Given the description of an element on the screen output the (x, y) to click on. 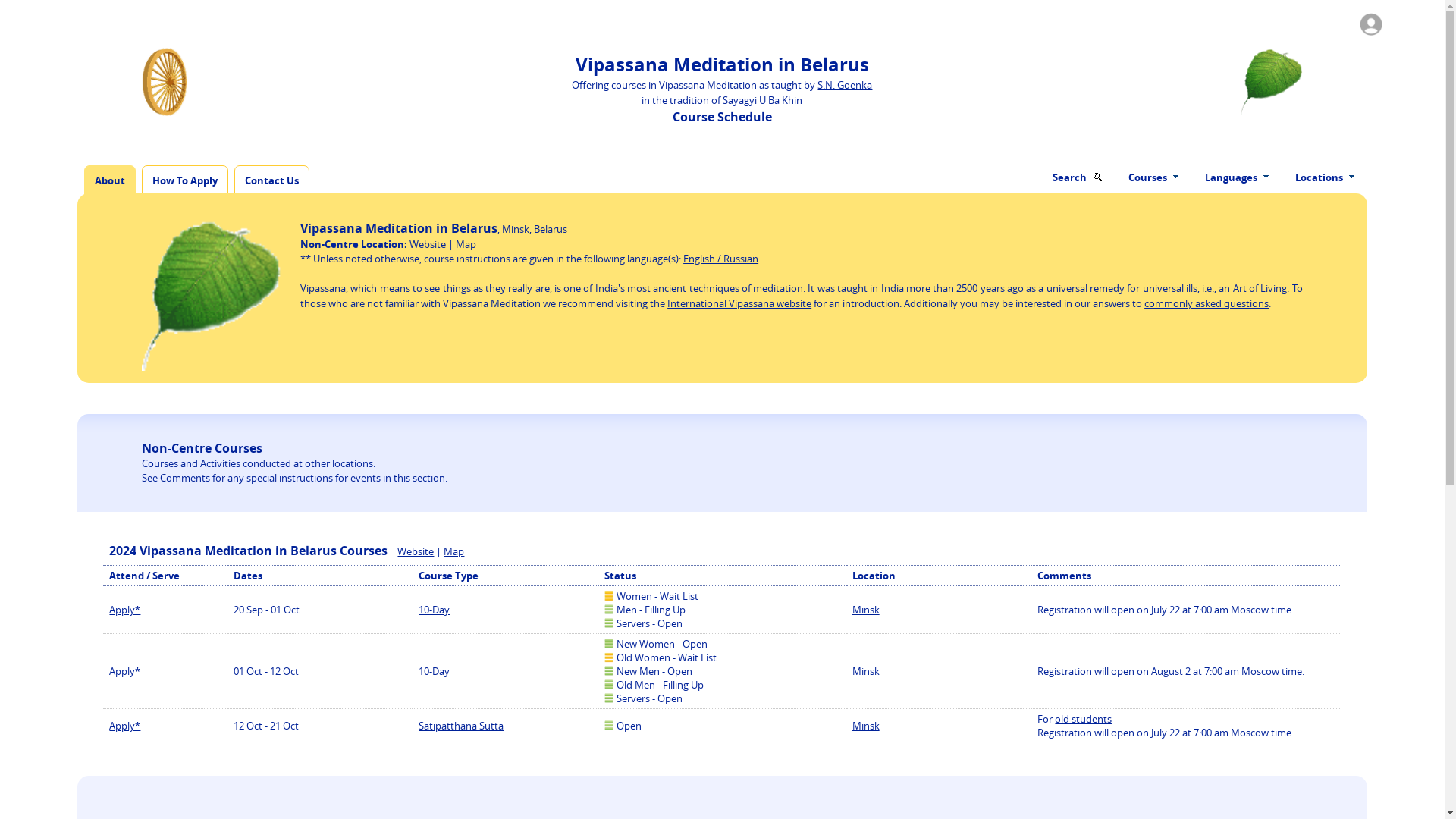
10-Day (434, 609)
Website (427, 243)
User Account (1368, 22)
10-Day (434, 671)
Satipatthana Sutta (461, 725)
International Vipassana website (738, 303)
Locations (1324, 176)
old students (1083, 718)
Minsk (865, 671)
Map (454, 550)
